Given the description of an element on the screen output the (x, y) to click on. 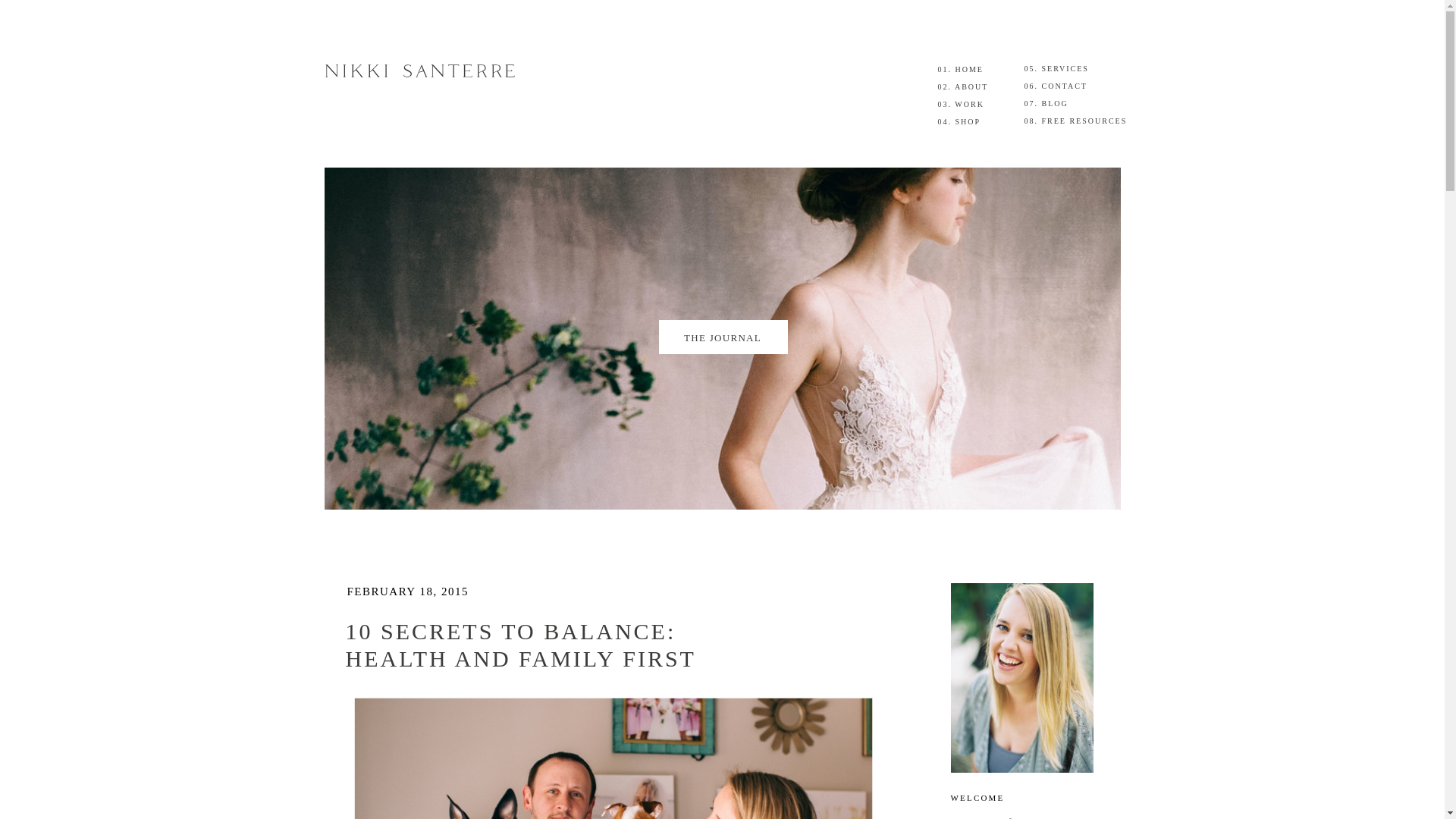
05. SERVICES (1061, 70)
08. FREE RESOURCES (1080, 120)
06. CONTACT (1061, 88)
03. WORK (975, 106)
01. HOME (975, 71)
04. SHOP (975, 121)
02. ABOUT (975, 88)
07. BLOG (1061, 105)
10 Secrets to Balance: Health and Family First (612, 757)
